Given the description of an element on the screen output the (x, y) to click on. 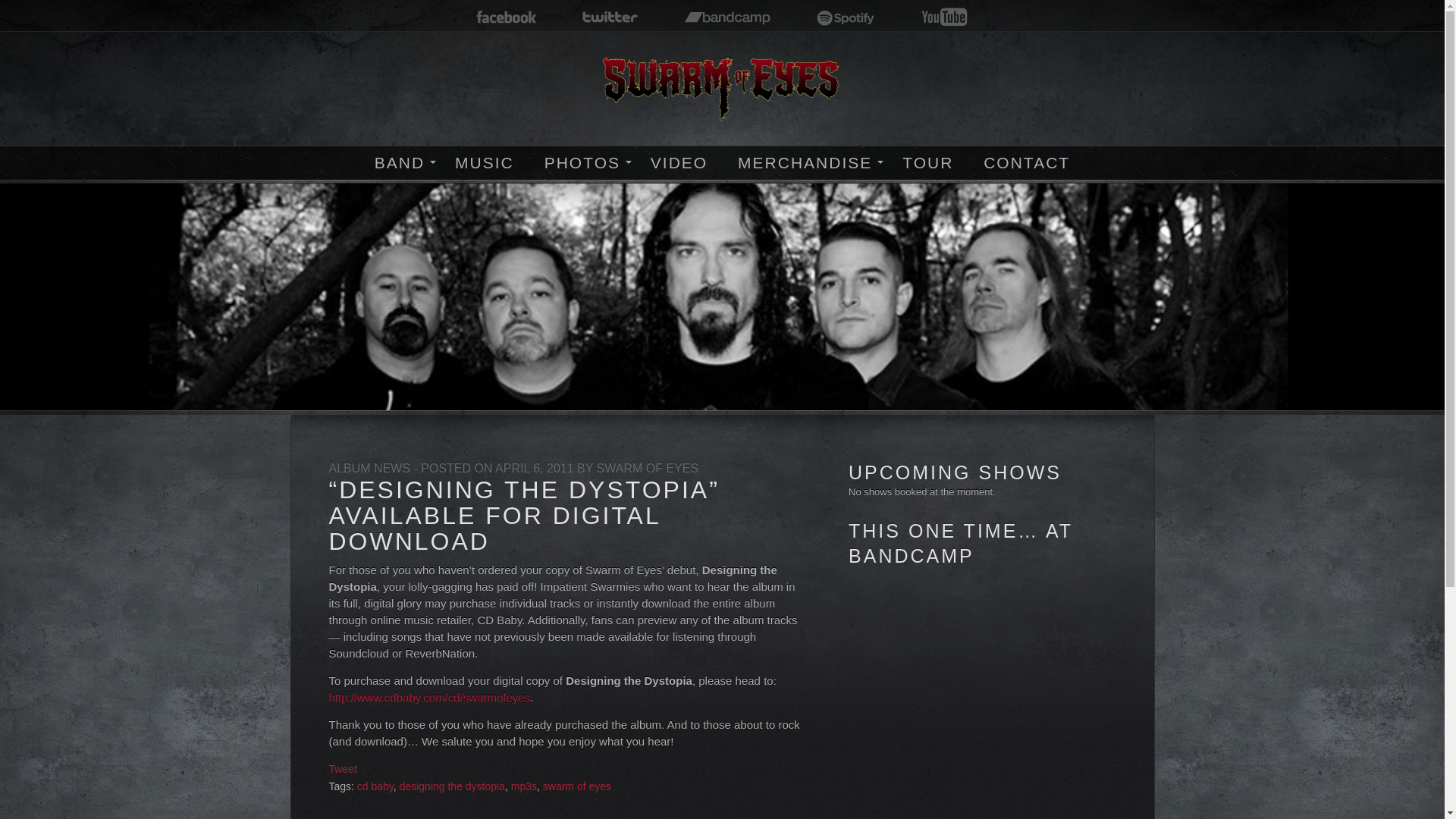
PHOTOS (581, 164)
youtube (944, 17)
swarm of eyes (577, 786)
Home (722, 88)
SWARM OF EYES (647, 468)
Tweet (342, 768)
designing the dystopia (451, 786)
VIDEO (679, 164)
MERCHANDISE (804, 164)
Posts by Swarm of Eyes (647, 468)
ALBUM NEWS (369, 468)
facebook (506, 17)
TOUR (927, 164)
bandcamp (727, 17)
cd baby (374, 786)
